Given the description of an element on the screen output the (x, y) to click on. 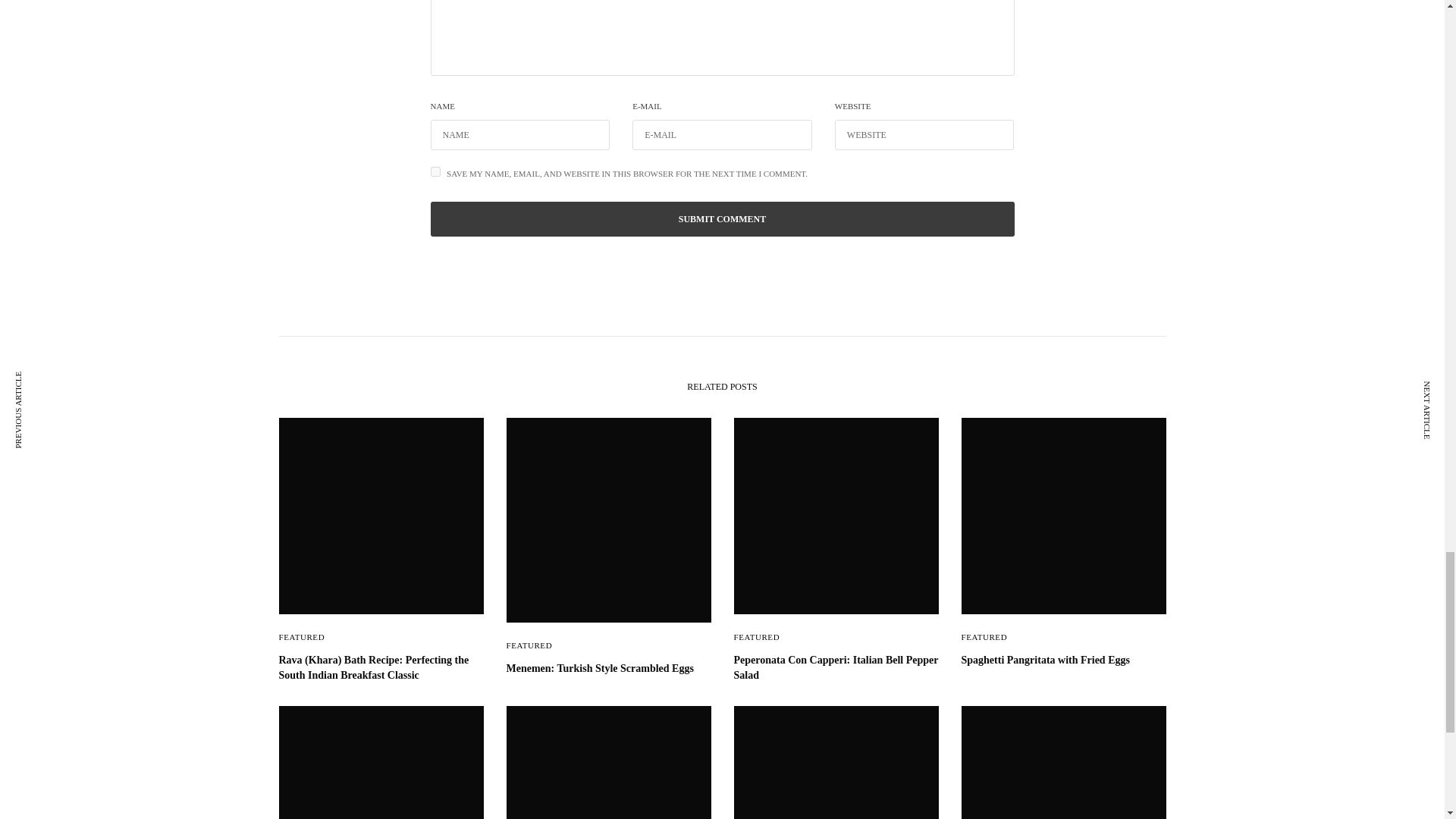
yes (435, 171)
Peperonata Con Capperi: Italian Bell Pepper Salad (836, 667)
Menemen: Turkish Style Scrambled Eggs (608, 668)
Submit Comment (722, 218)
Spaghetti Pangritata with Fried Eggs (1063, 660)
